Given the description of an element on the screen output the (x, y) to click on. 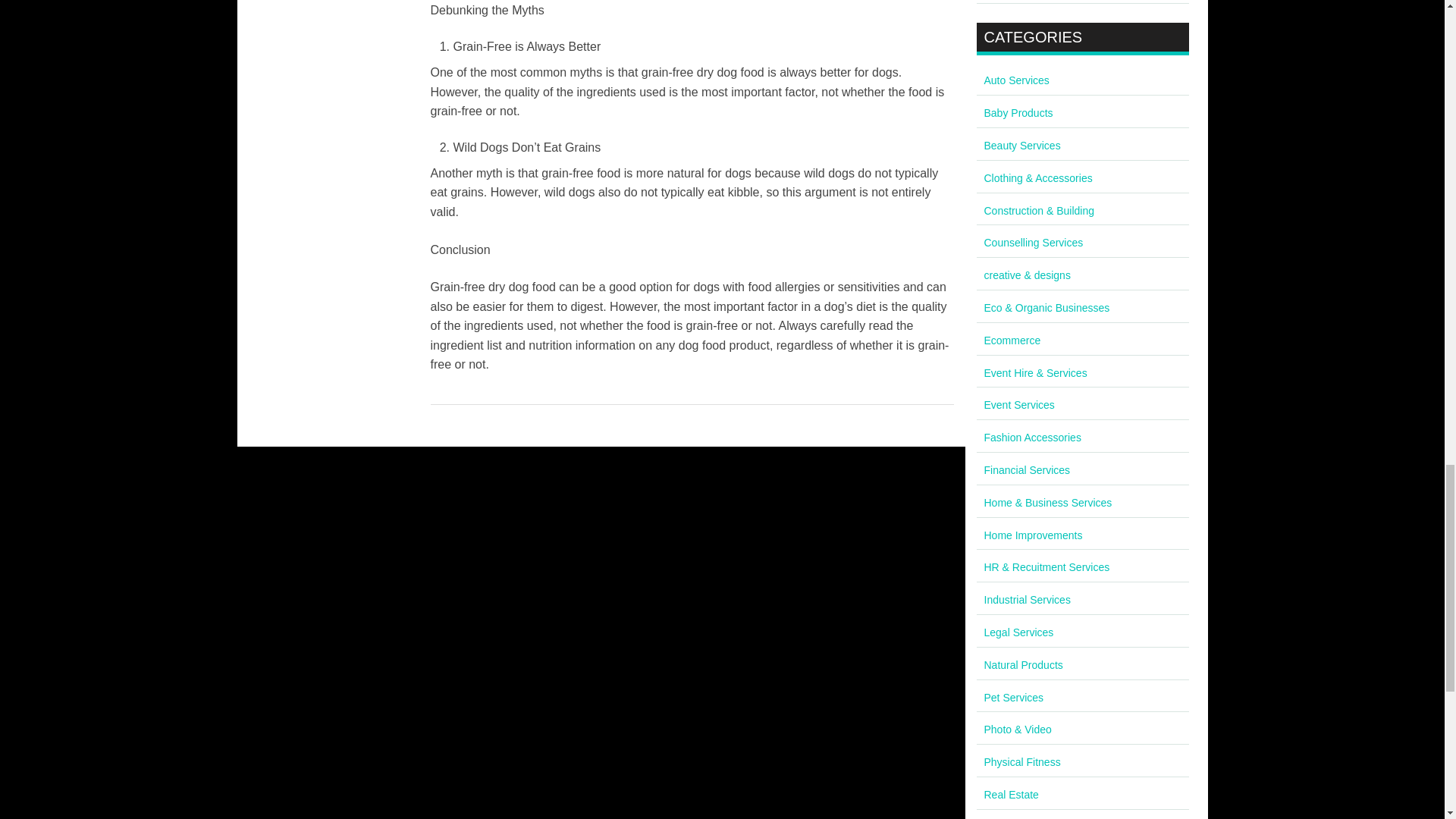
Ecommerce (1012, 340)
